Given the description of an element on the screen output the (x, y) to click on. 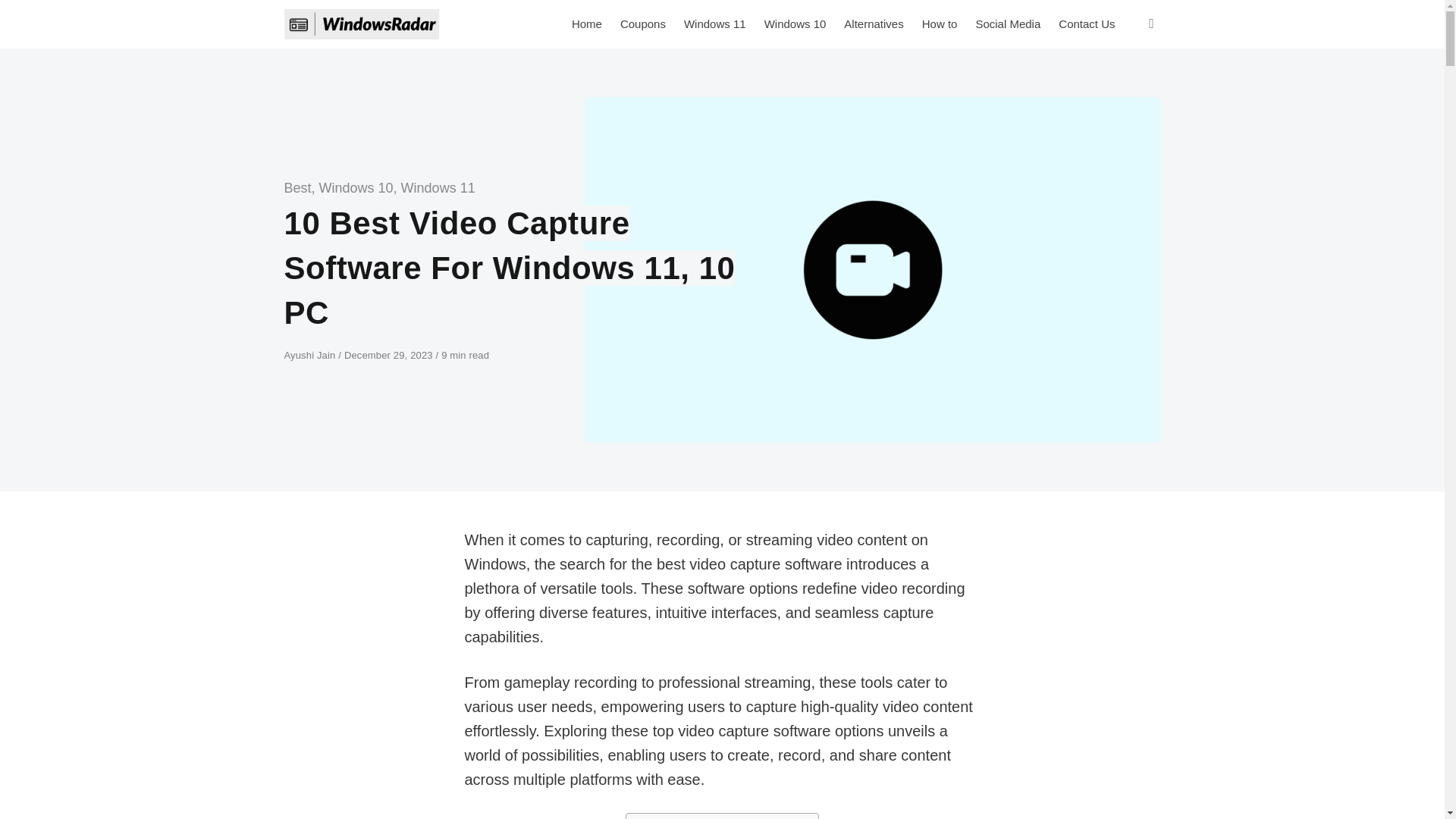
How to (939, 24)
Alternatives (873, 24)
December 29, 2023 (389, 355)
Coupons (643, 24)
Windows 10 (795, 24)
Home (586, 24)
Contact Us (1086, 24)
Windows 10 (355, 187)
December 29, 2023 (389, 355)
Best (297, 187)
